Given the description of an element on the screen output the (x, y) to click on. 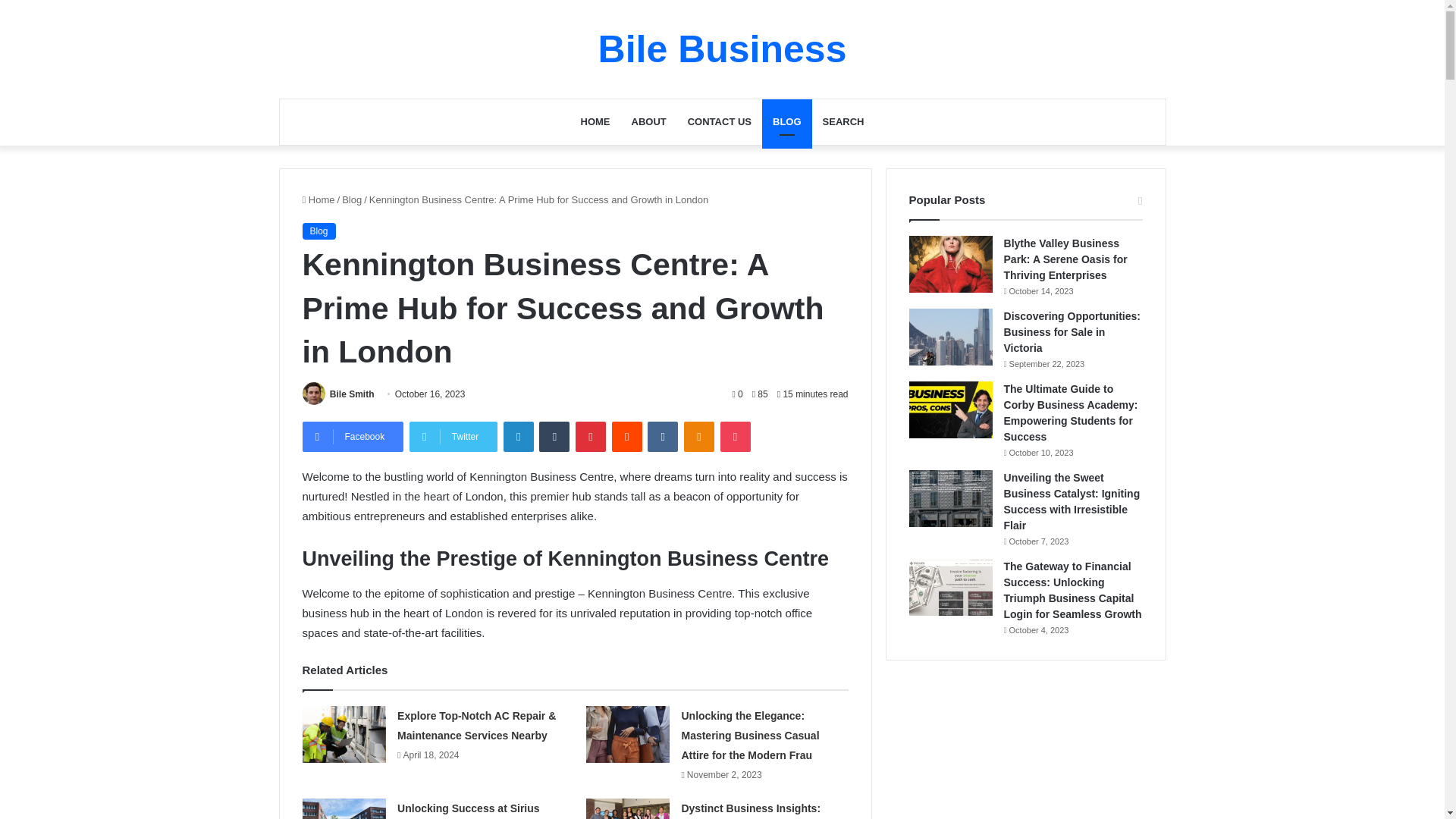
Facebook (352, 436)
Odnoklassniki (699, 436)
LinkedIn (518, 436)
Pinterest (590, 436)
Blog (317, 230)
Reddit (626, 436)
VKontakte (662, 436)
Pocket (735, 436)
CONTACT US (719, 121)
